Given the description of an element on the screen output the (x, y) to click on. 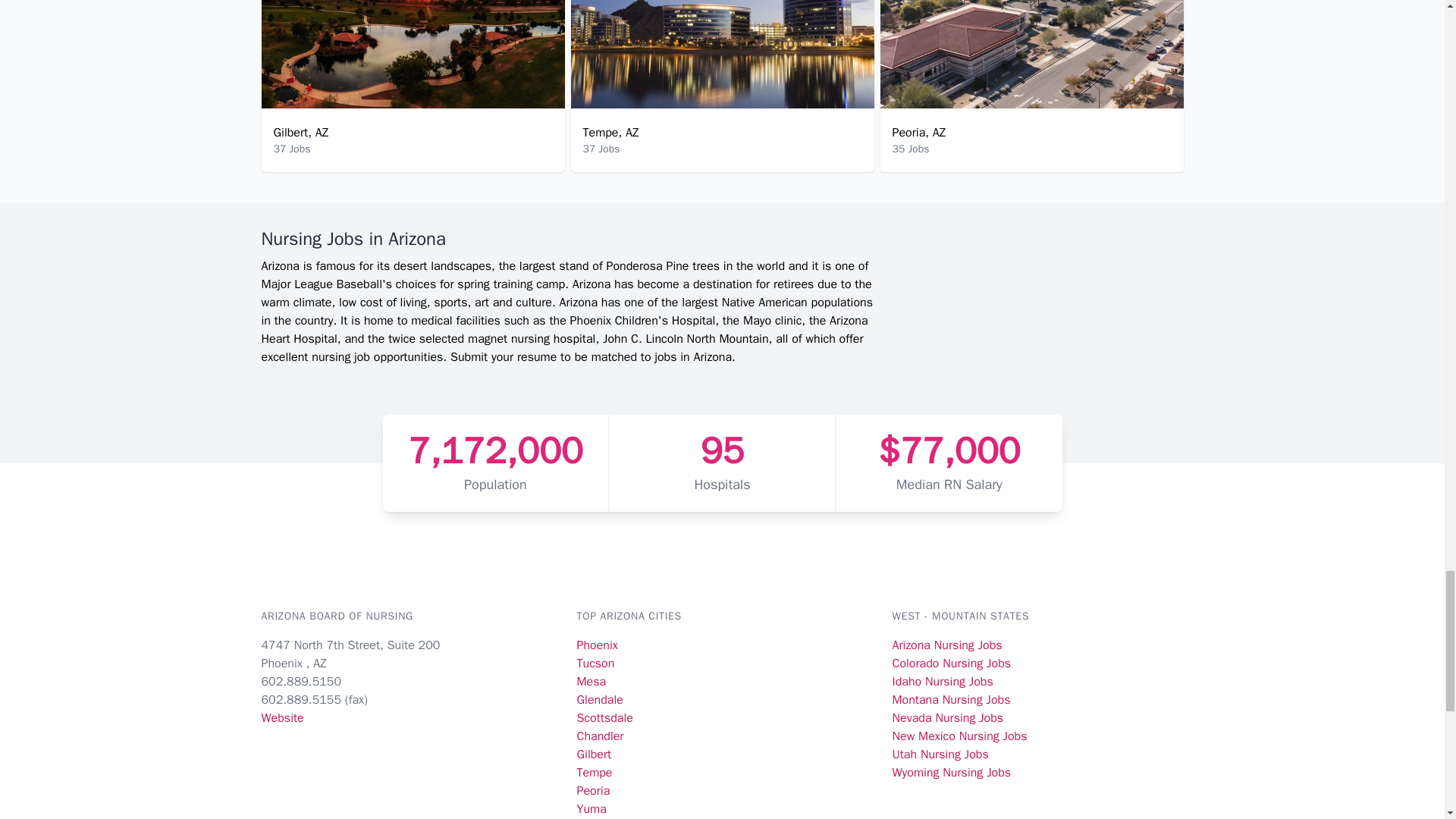
Find nursing jobs in Arizona (590, 356)
Nursing jobs in Yuma (590, 808)
Nursing jobs in Glendale (599, 699)
Nursing jobs in Chandler (599, 735)
Nursing jobs in Tucson (595, 663)
Nursing jobs in Mesa (590, 681)
Nursing jobs in Phoenix (596, 645)
Nursing jobs in Scottsdale (603, 717)
Nursing jobs in Tempe (593, 772)
Nursing jobs in Gilbert (593, 754)
